Given the description of an element on the screen output the (x, y) to click on. 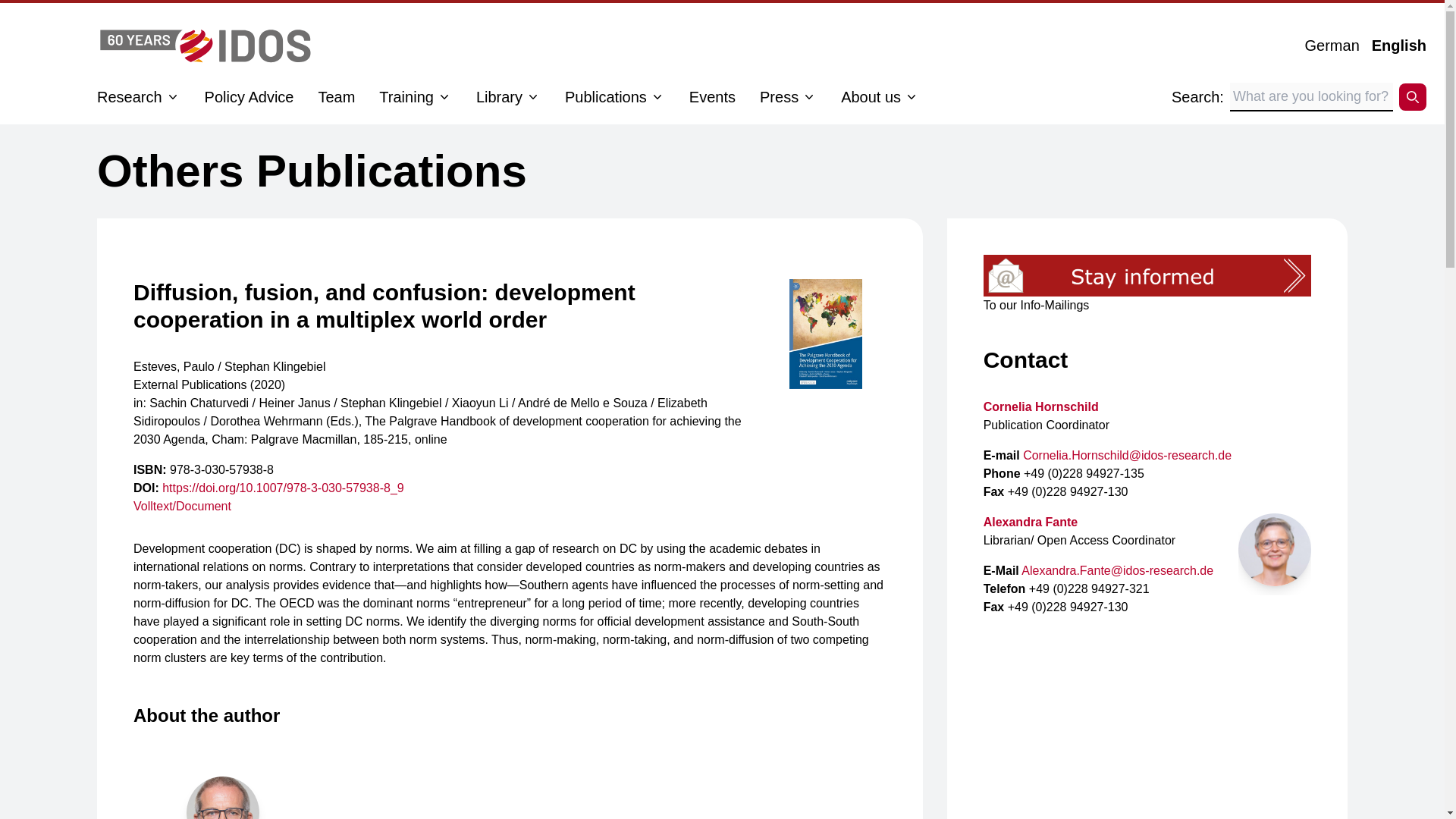
Library (532, 96)
Publications (605, 96)
Schreib mir! (1117, 570)
Zum Profil (1041, 406)
Team (336, 96)
Publications (657, 96)
Zum Profil (1030, 521)
Zum Profil (1275, 549)
Research (172, 96)
English (1392, 45)
Policy Advice (249, 96)
IDOS (206, 45)
Research (129, 96)
German (1325, 45)
Training (405, 96)
